Given the description of an element on the screen output the (x, y) to click on. 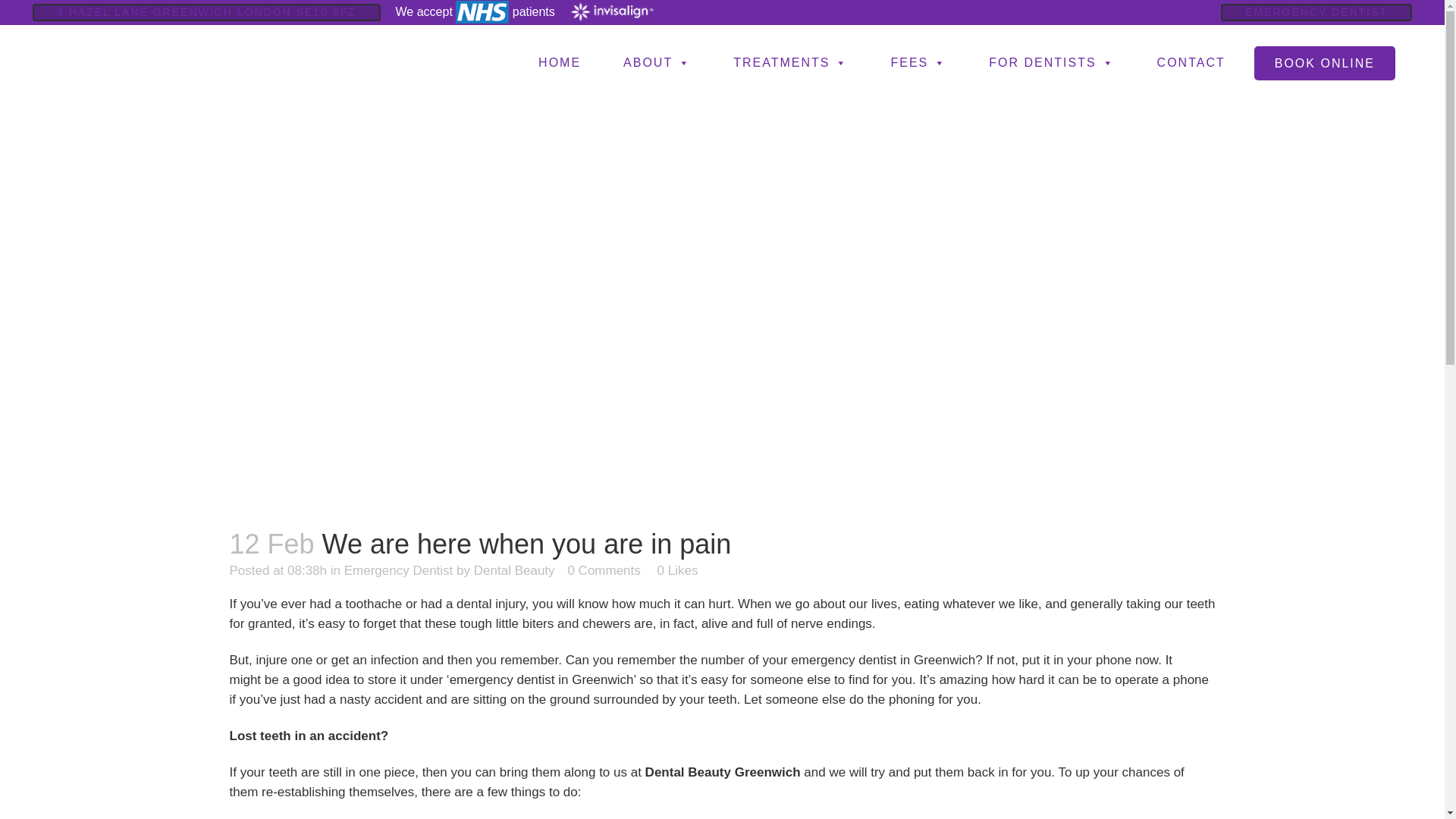
HOME (559, 62)
FEES (917, 62)
FOR DENTISTS (1050, 62)
Like this (676, 570)
3 HAZEL LANE GREENWICH LONDON SE10 9FZ (206, 12)
EMERGENCY DENTIST (1316, 12)
TREATMENTS (790, 62)
ABOUT (657, 62)
